Given the description of an element on the screen output the (x, y) to click on. 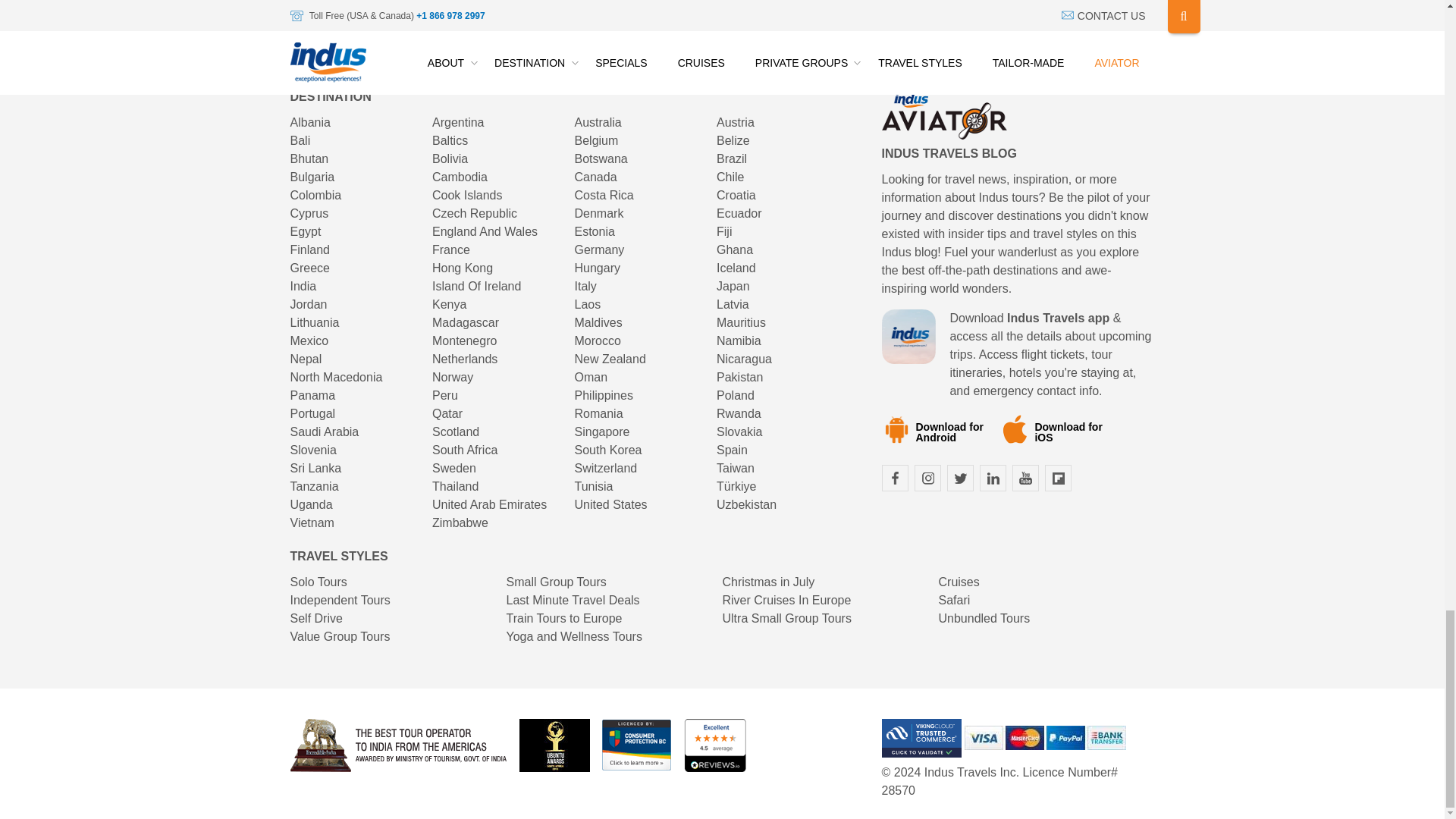
Subscribe Now (1071, 1)
